Given the description of an element on the screen output the (x, y) to click on. 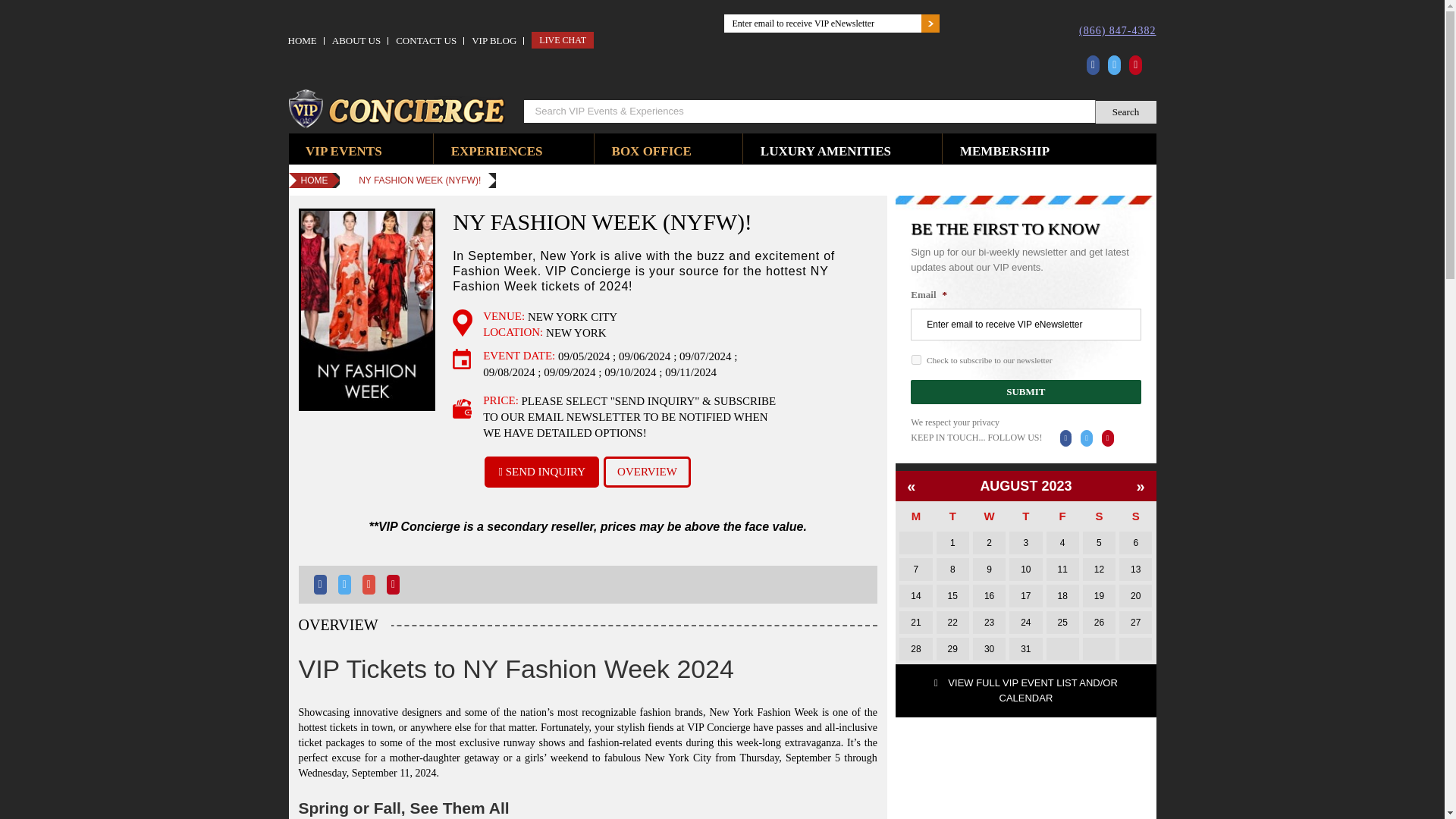
LUXURY AMENITIES (824, 148)
LIVE CHAT (562, 39)
Submit (1025, 392)
yes (916, 359)
MEMBERSHIP (1003, 148)
Search (1125, 111)
VIP EVENTS (343, 148)
BOX OFFICE (650, 148)
Search (1125, 111)
ABOUT US (355, 40)
